Given the description of an element on the screen output the (x, y) to click on. 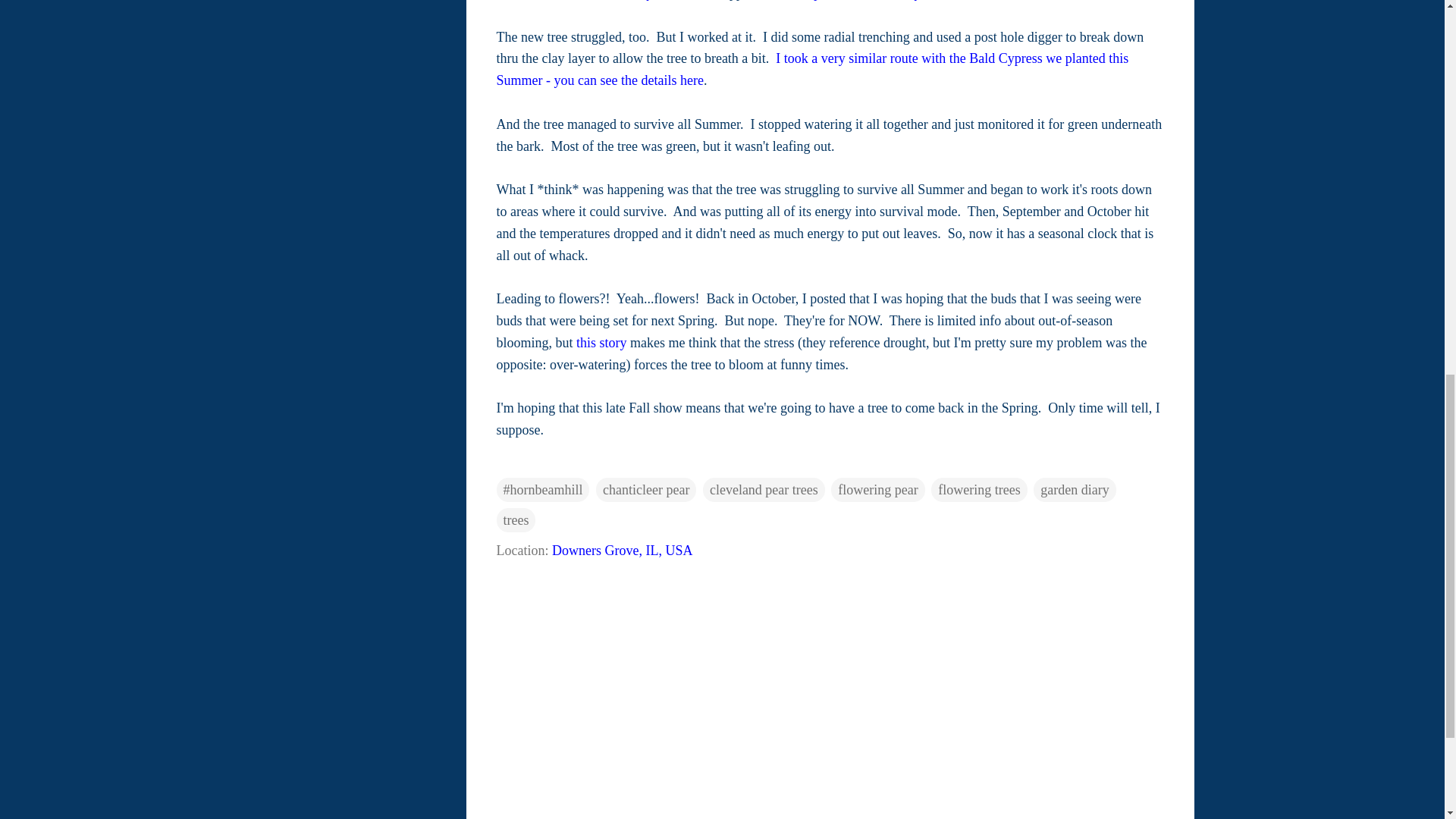
trees (515, 519)
this story (601, 342)
garden diary (1074, 489)
Downers Grove, IL, USA (622, 549)
cleveland pear trees (764, 489)
flowering pear (877, 489)
chanticleer pear (645, 489)
flowering trees (978, 489)
